Given the description of an element on the screen output the (x, y) to click on. 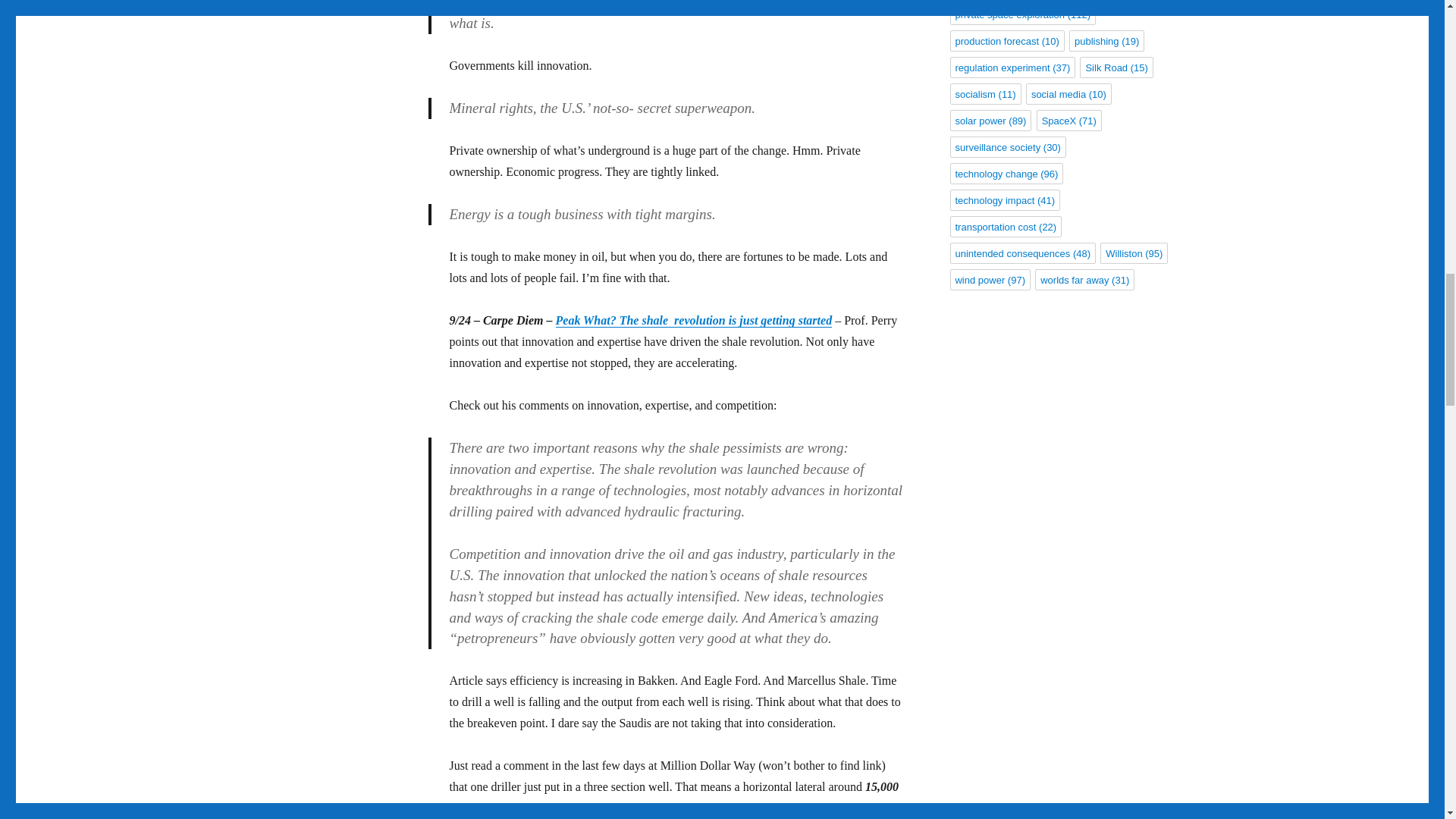
Peak What? The shale  revolution is just getting started (692, 319)
